Given the description of an element on the screen output the (x, y) to click on. 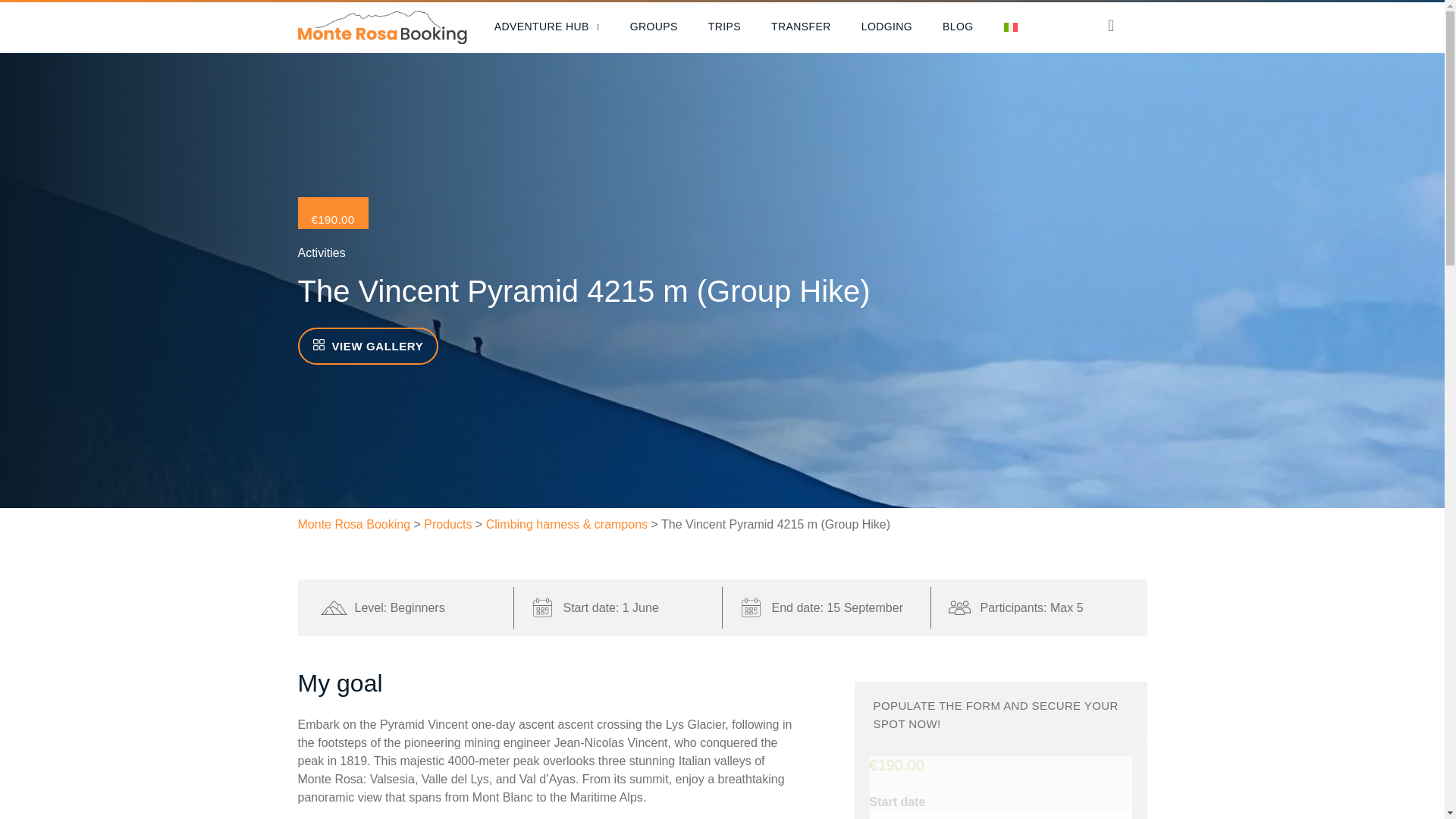
LODGING (886, 27)
BLOG (957, 27)
Go to Monte Rosa Booking. (353, 523)
GROUPS (653, 27)
ADVENTURE HUB (546, 27)
2024-06-01 (1000, 815)
Go to Products. (447, 523)
TRIPS (724, 27)
TRANSFER (800, 27)
